Given the description of an element on the screen output the (x, y) to click on. 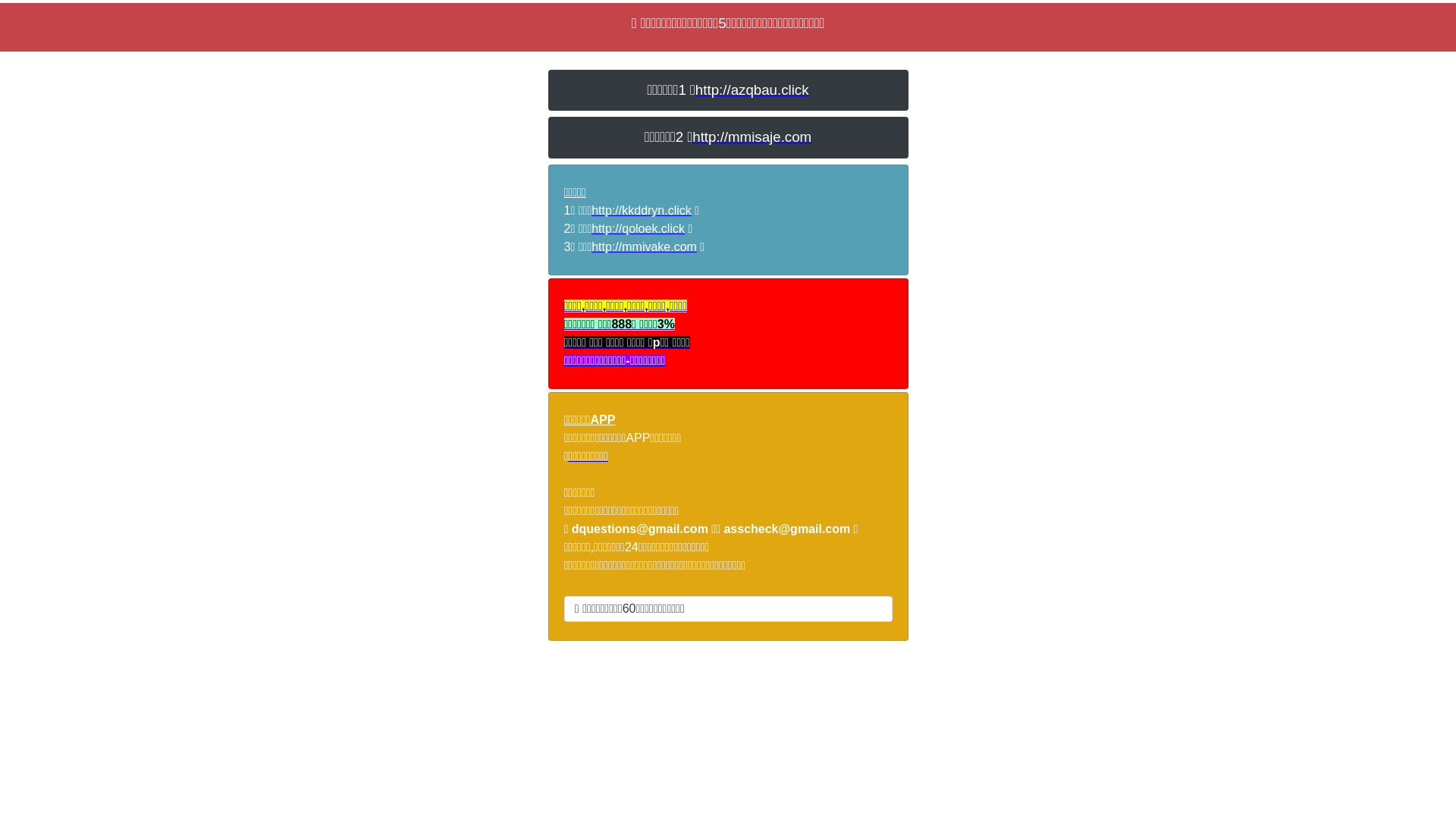
http://kkddryn.click Element type: text (641, 209)
http://qoloek.click Element type: text (637, 228)
http://mmisaje.com Element type: text (751, 136)
http://mmivake.com Element type: text (643, 246)
http://azqbau.click Element type: text (752, 89)
